Given the description of an element on the screen output the (x, y) to click on. 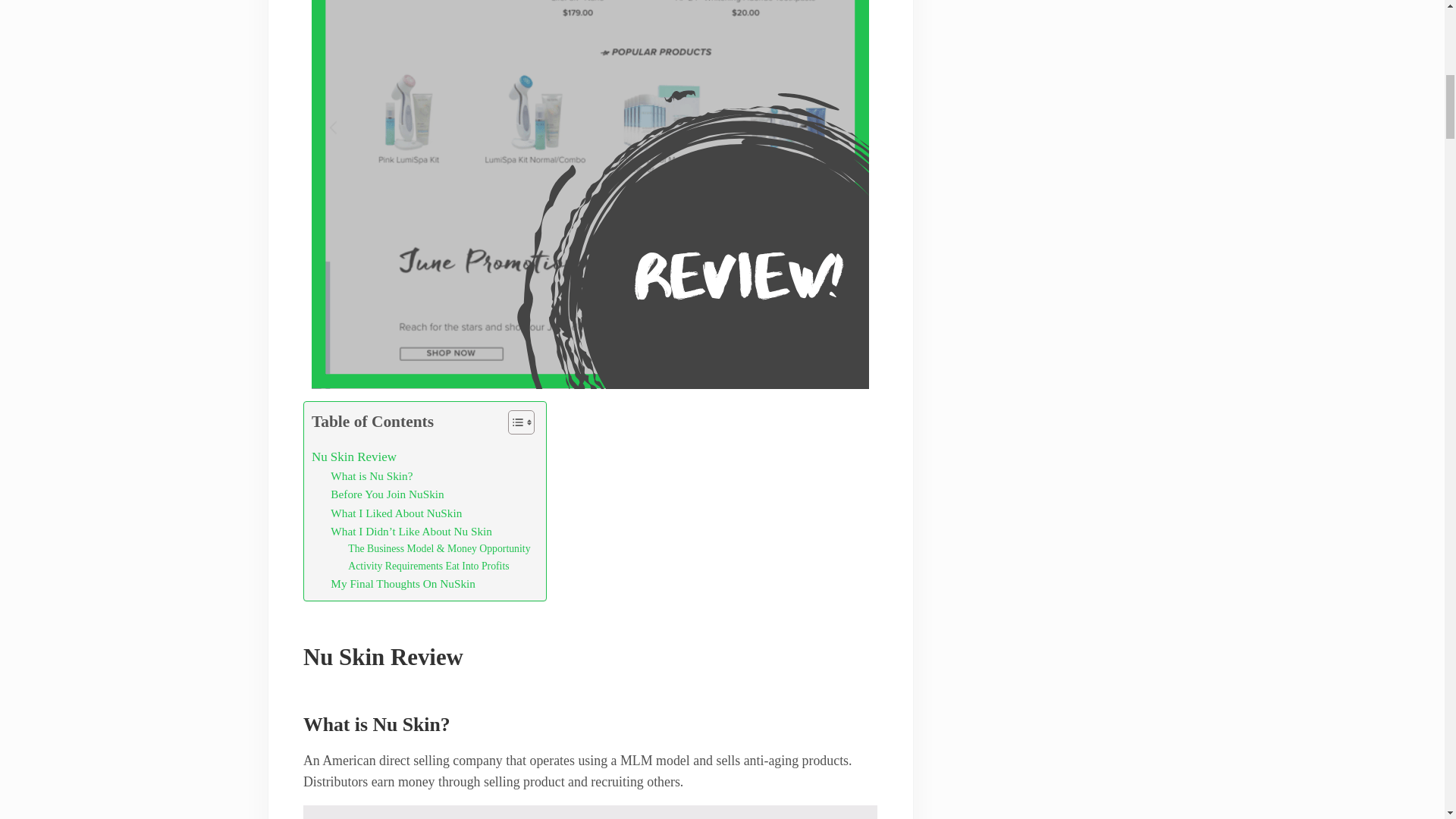
Before You Join NuSkin (387, 494)
What is Nu Skin? (371, 475)
Nu Skin Review (353, 456)
Nu Skin Review (353, 456)
What I Liked About NuSkin (395, 513)
Activity Requirements Eat Into Profits (427, 565)
My Final Thoughts On NuSkin (403, 583)
My Final Thoughts On NuSkin (403, 583)
What is Nu Skin? (371, 475)
What I Liked About NuSkin (395, 513)
